Given the description of an element on the screen output the (x, y) to click on. 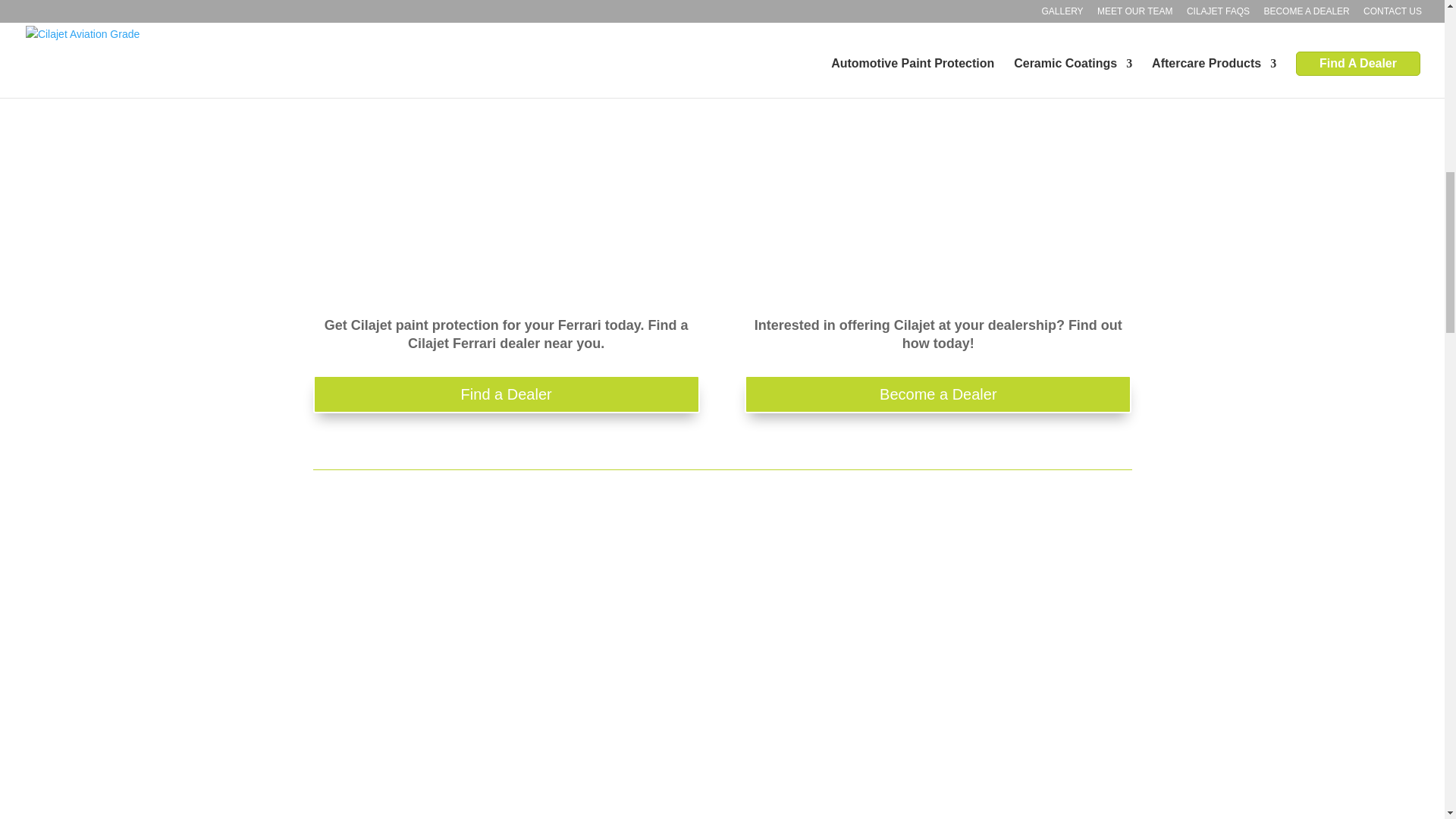
paint-protection-for-ferarri (505, 671)
paint-protected-ferarri (937, 671)
Find a Dealer (505, 394)
Become a Dealer (937, 394)
